Given the description of an element on the screen output the (x, y) to click on. 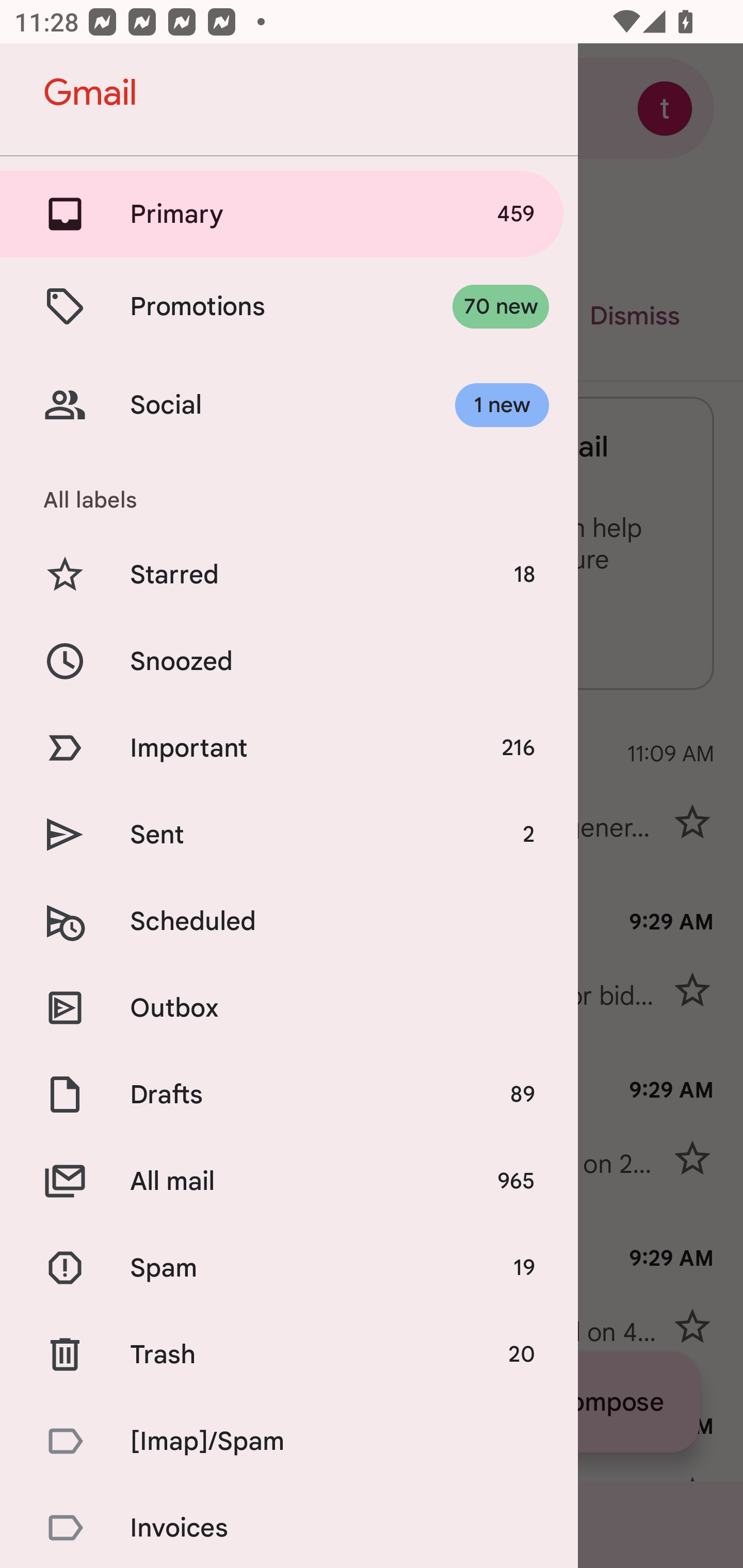
Primary 459 (289, 213)
Promotions 70 new (289, 306)
Social 1 new (289, 404)
Starred 18 (289, 574)
Snoozed (289, 660)
Important 216 (289, 747)
Sent 2 (289, 834)
Scheduled (289, 921)
Outbox (289, 1007)
Drafts 89 (289, 1094)
All mail 965 (289, 1181)
Spam 19 (289, 1267)
Trash 20 (289, 1353)
[Imap]/Spam (289, 1440)
Invoices (289, 1526)
